Given the description of an element on the screen output the (x, y) to click on. 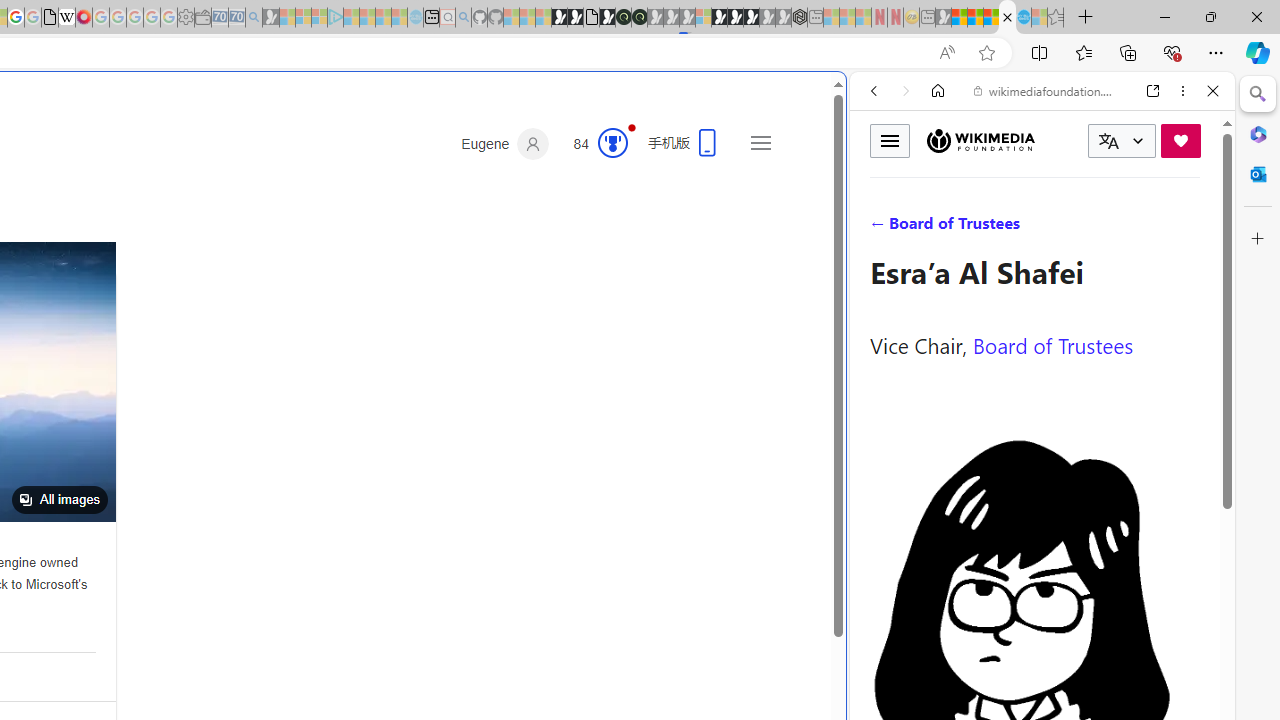
Board of Trustees (1053, 344)
Global web icon (888, 669)
Class: i icon icon-translate language-switcher__icon (1108, 141)
Search Filter, VIDEOS (1006, 228)
Wikimedia Foundation (980, 141)
Open link in new tab (1153, 91)
Microsoft Start Gaming - Sleeping (270, 17)
